Given the description of an element on the screen output the (x, y) to click on. 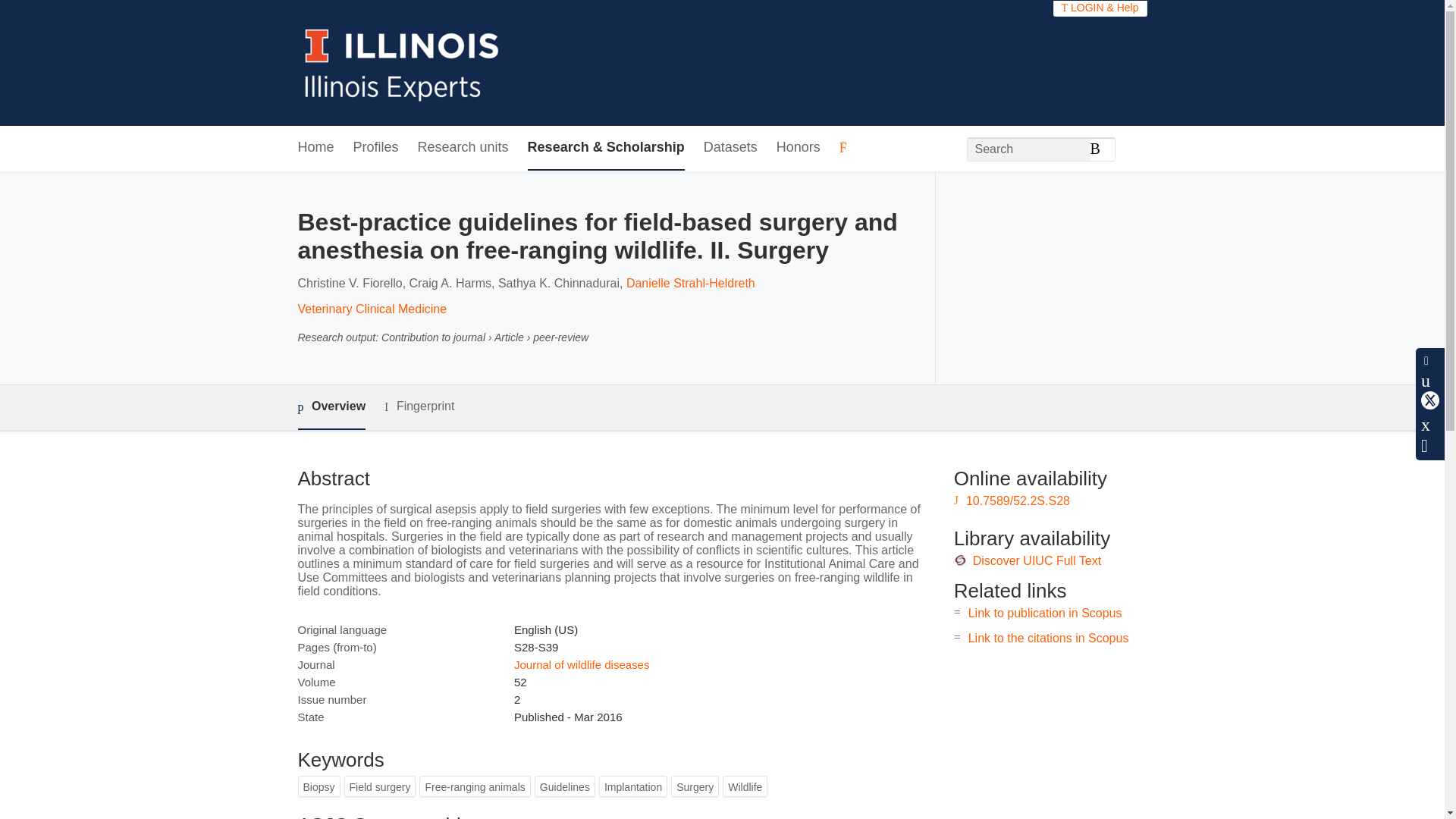
Link to publication in Scopus (1045, 612)
Datasets (730, 148)
Profiles (375, 148)
University of Illinois Urbana-Champaign Home (402, 62)
Journal of wildlife diseases (581, 664)
Honors (798, 148)
Danielle Strahl-Heldreth (690, 282)
Link to the citations in Scopus (1048, 637)
Veterinary Clinical Medicine (371, 308)
Overview (331, 406)
Discover UIUC Full Text (1037, 560)
Fingerprint (419, 406)
Research units (462, 148)
